Given the description of an element on the screen output the (x, y) to click on. 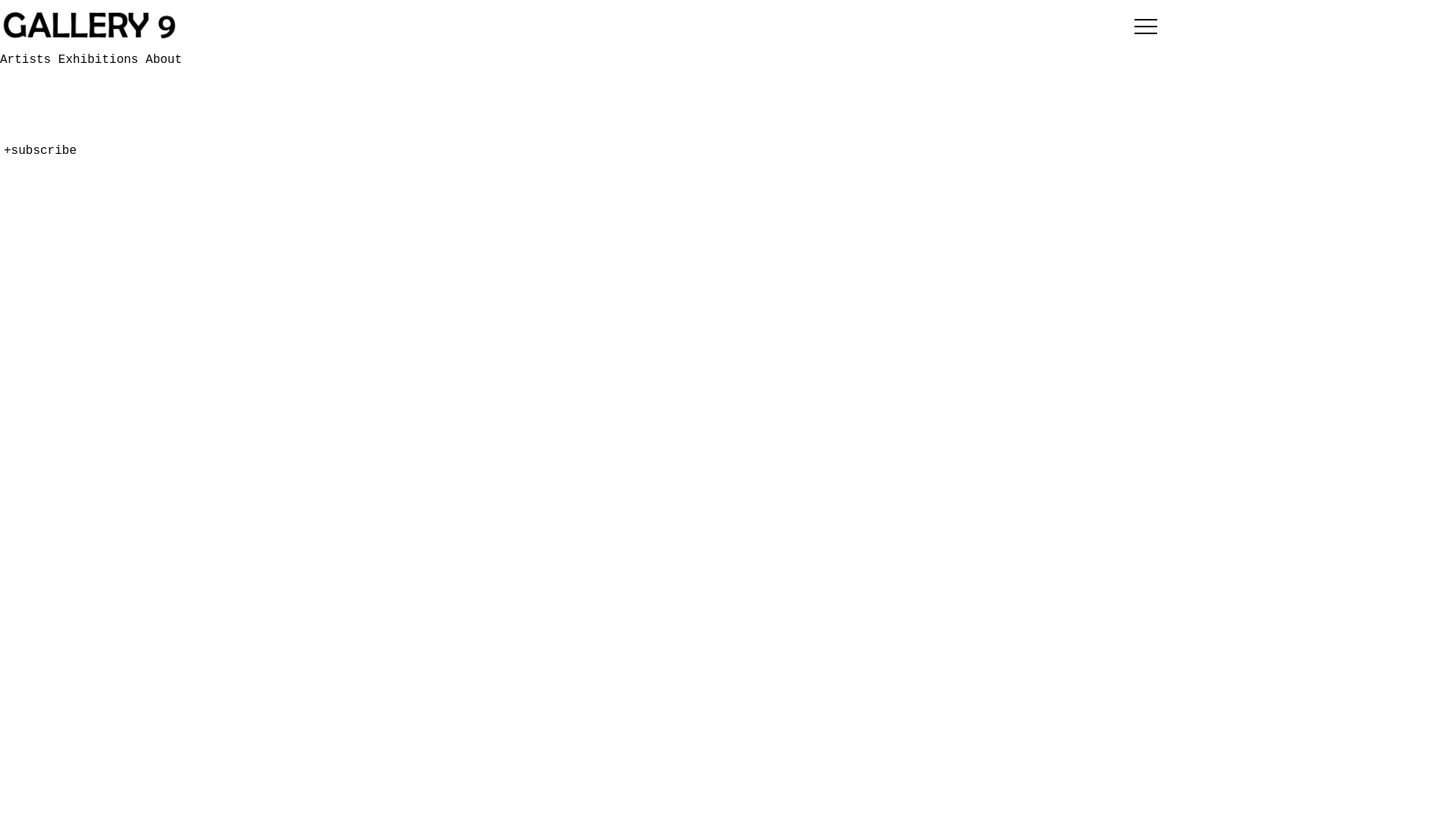
+subscribe Element type: text (40, 150)
Artists Element type: text (29, 59)
+subscribe Element type: text (40, 267)
Exhibitions Element type: text (40, 158)
Exhibitions Element type: text (101, 59)
SUBSCRIBE Element type: text (54, 110)
Artists Element type: text (25, 140)
About Element type: text (163, 59)
About Element type: text (18, 176)
